Given the description of an element on the screen output the (x, y) to click on. 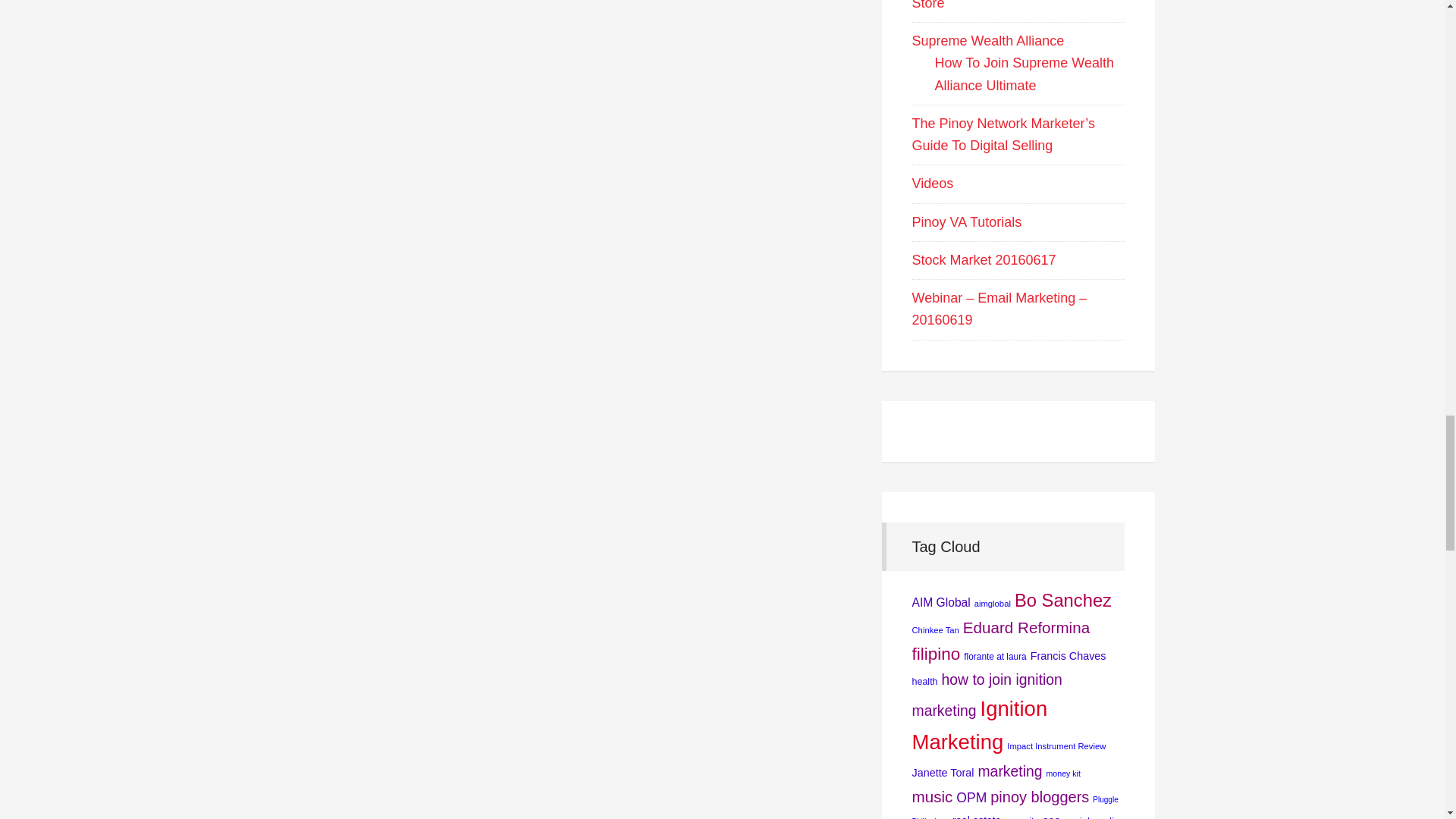
4 topics (994, 656)
18 topics (1025, 627)
16 topics (1009, 770)
3 topics (992, 603)
5 topics (924, 681)
23 topics (1063, 599)
8 topics (1068, 655)
21 topics (935, 653)
29 topics (978, 725)
8 topics (942, 772)
